Given the description of an element on the screen output the (x, y) to click on. 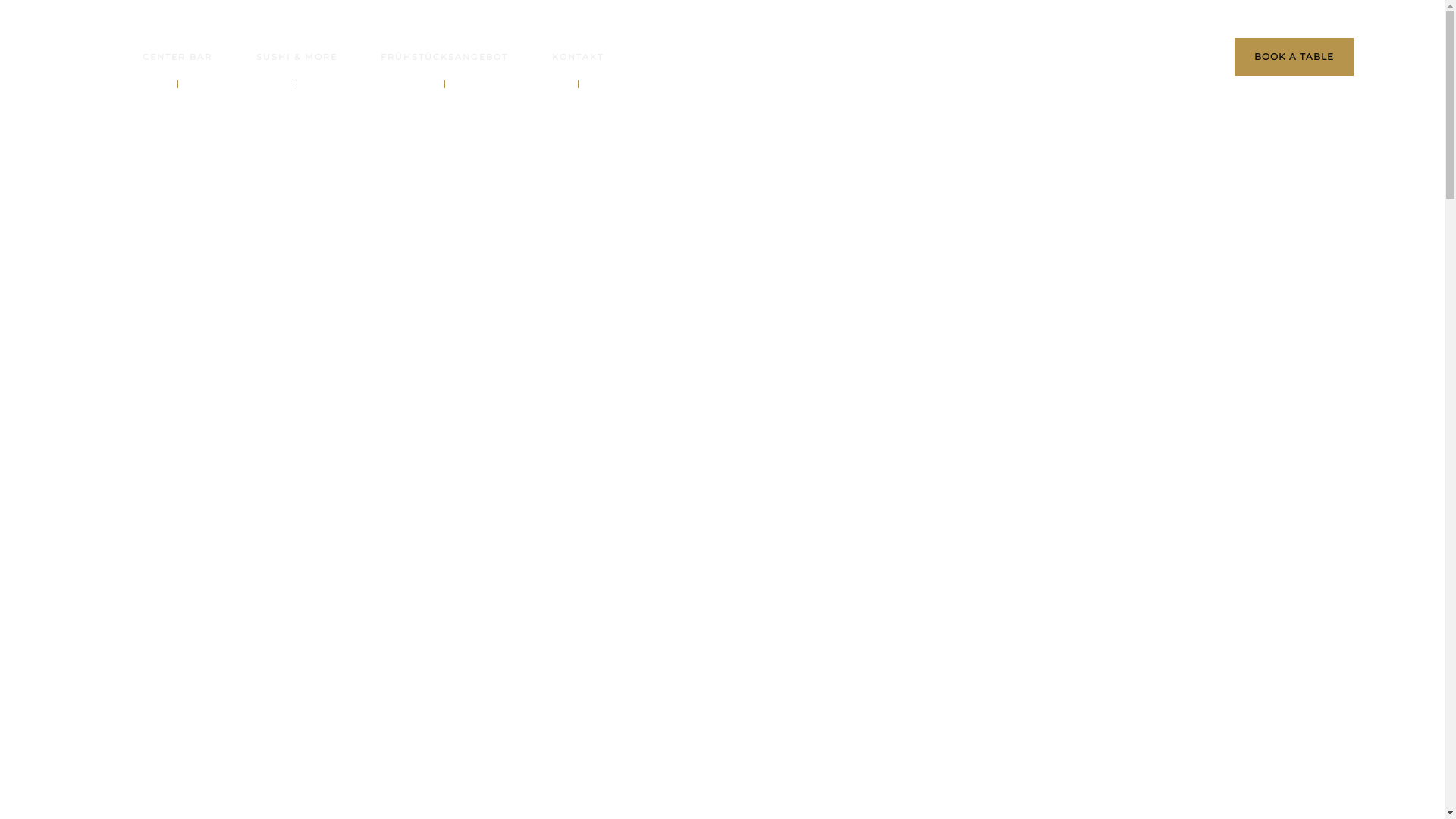
BOOK A TABLE Element type: text (1293, 56)
CENTER BAR Element type: text (177, 56)
SUSHI & MORE Element type: text (296, 56)
KONTAKT Element type: text (577, 56)
